Given the description of an element on the screen output the (x, y) to click on. 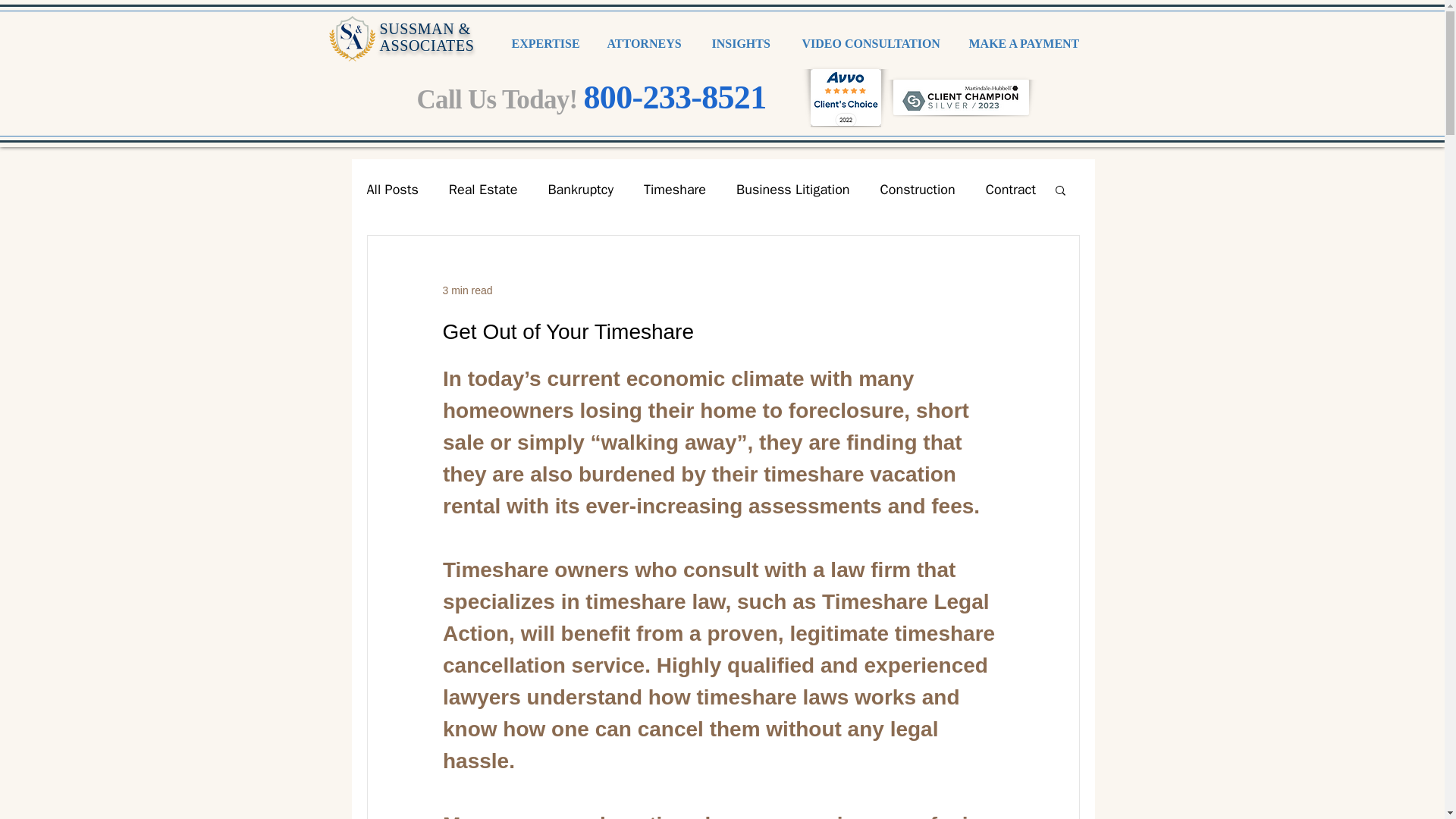
Contract (1010, 189)
Business Litigation (793, 189)
EXPERTISE (547, 44)
MAKE A PAYMENT (1025, 44)
Construction (917, 189)
Call Us Tod (479, 99)
ay! (560, 99)
ATTORNEYS (647, 44)
Real Estate (483, 189)
3 min read (467, 289)
Bankruptcy (579, 189)
800-233-8521 (675, 97)
ASSOCIATES (426, 45)
INSIGHTS (745, 44)
VIDEO CONSULTATION (873, 44)
